Given the description of an element on the screen output the (x, y) to click on. 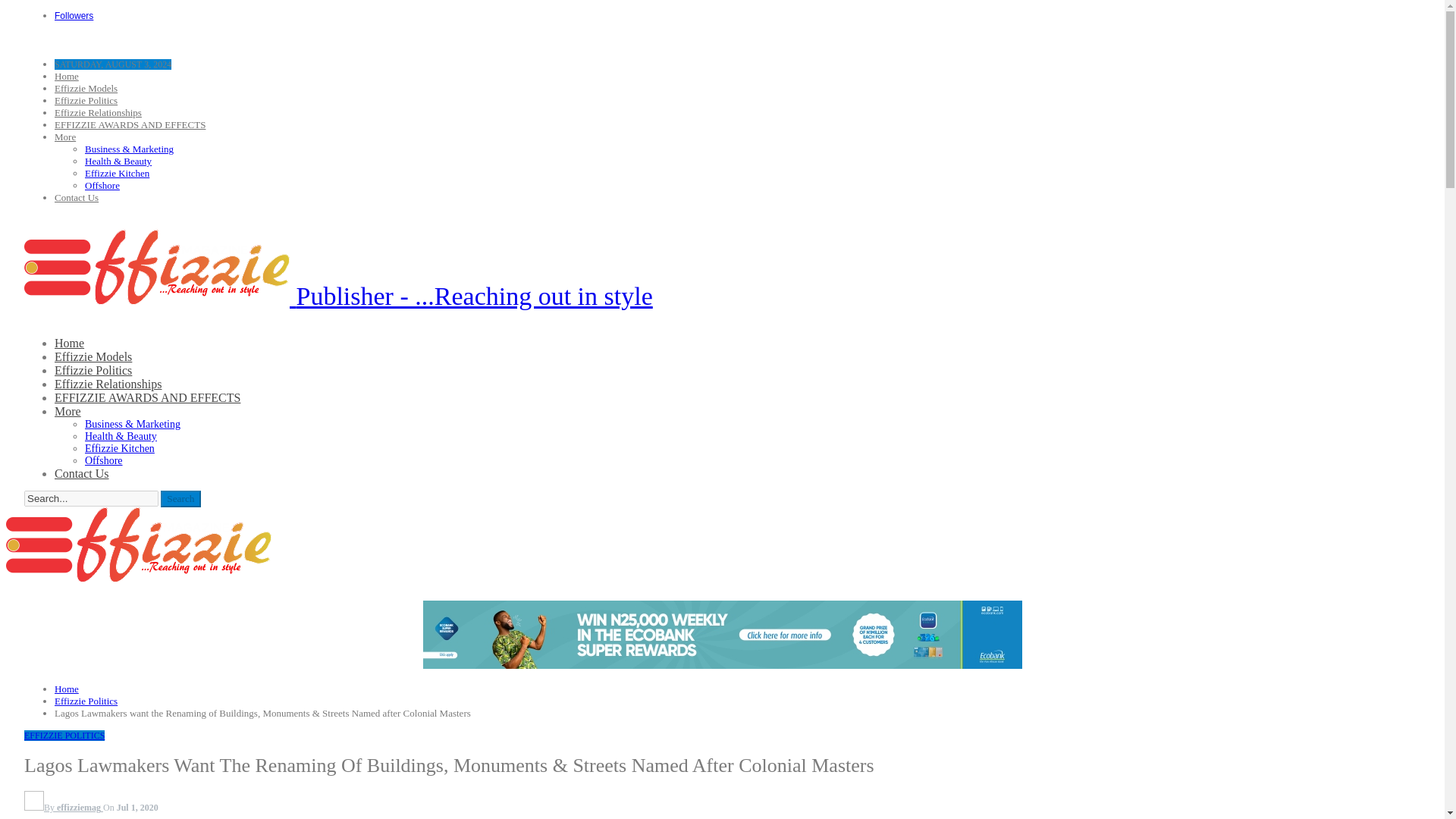
Effizzie Models (93, 356)
EFFIZZIE POLITICS (64, 735)
More (65, 136)
EFFIZZIE AWARDS AND EFFECTS (147, 397)
Contact Us (77, 197)
Search (180, 498)
Home (69, 342)
Offshore (101, 184)
Home (66, 75)
Effizzie Relationships (108, 383)
Offshore (103, 460)
Search for: (91, 498)
Effizzie Kitchen (119, 448)
Search (180, 498)
More (68, 410)
